Given the description of an element on the screen output the (x, y) to click on. 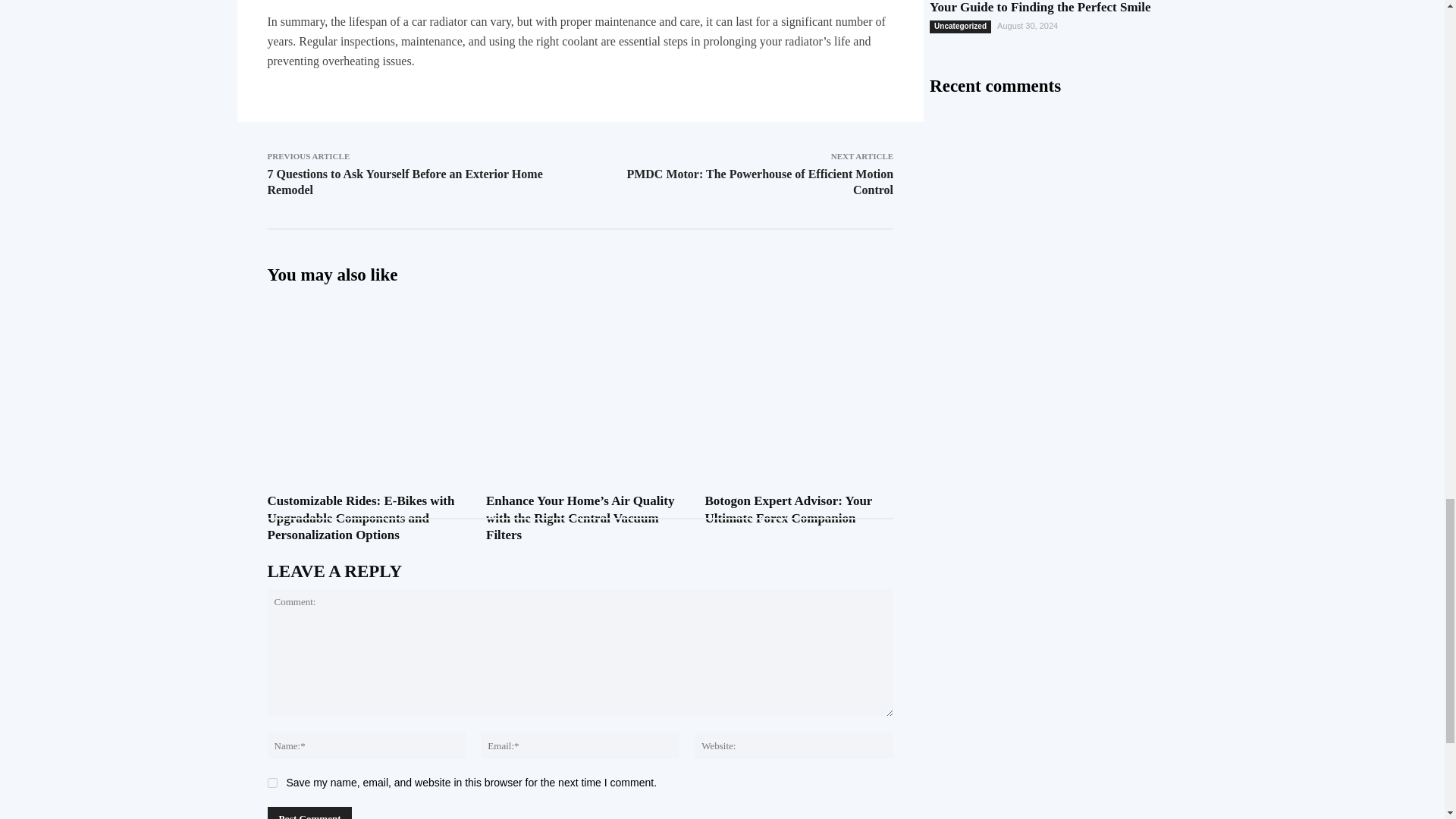
Botogon Expert Advisor: Your Ultimate Forex Companion (788, 508)
yes (271, 782)
Post Comment (309, 812)
Botogon Expert Advisor: Your Ultimate Forex Companion (798, 366)
